Given the description of an element on the screen output the (x, y) to click on. 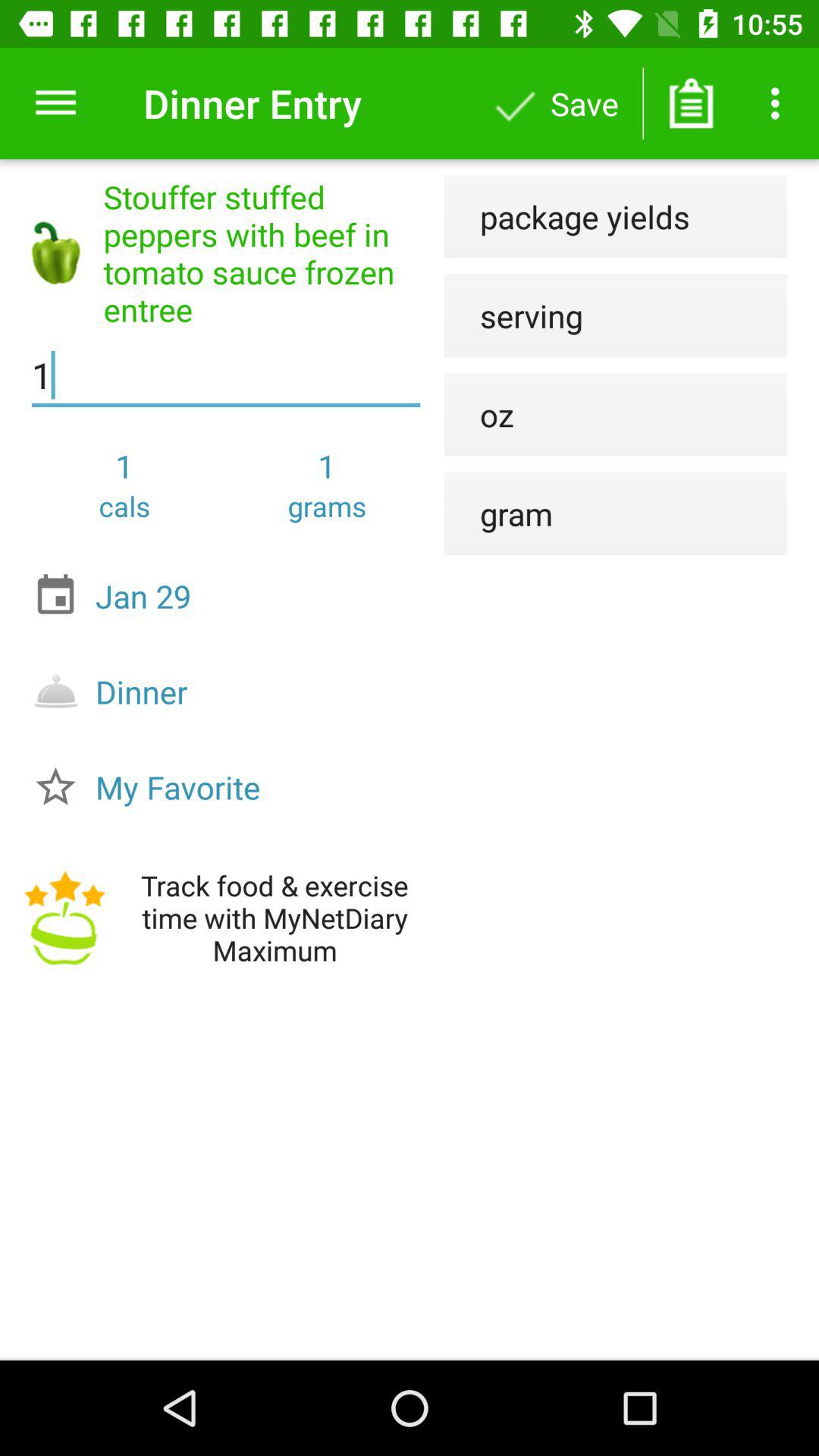
jump to oz (479, 414)
